Given the description of an element on the screen output the (x, y) to click on. 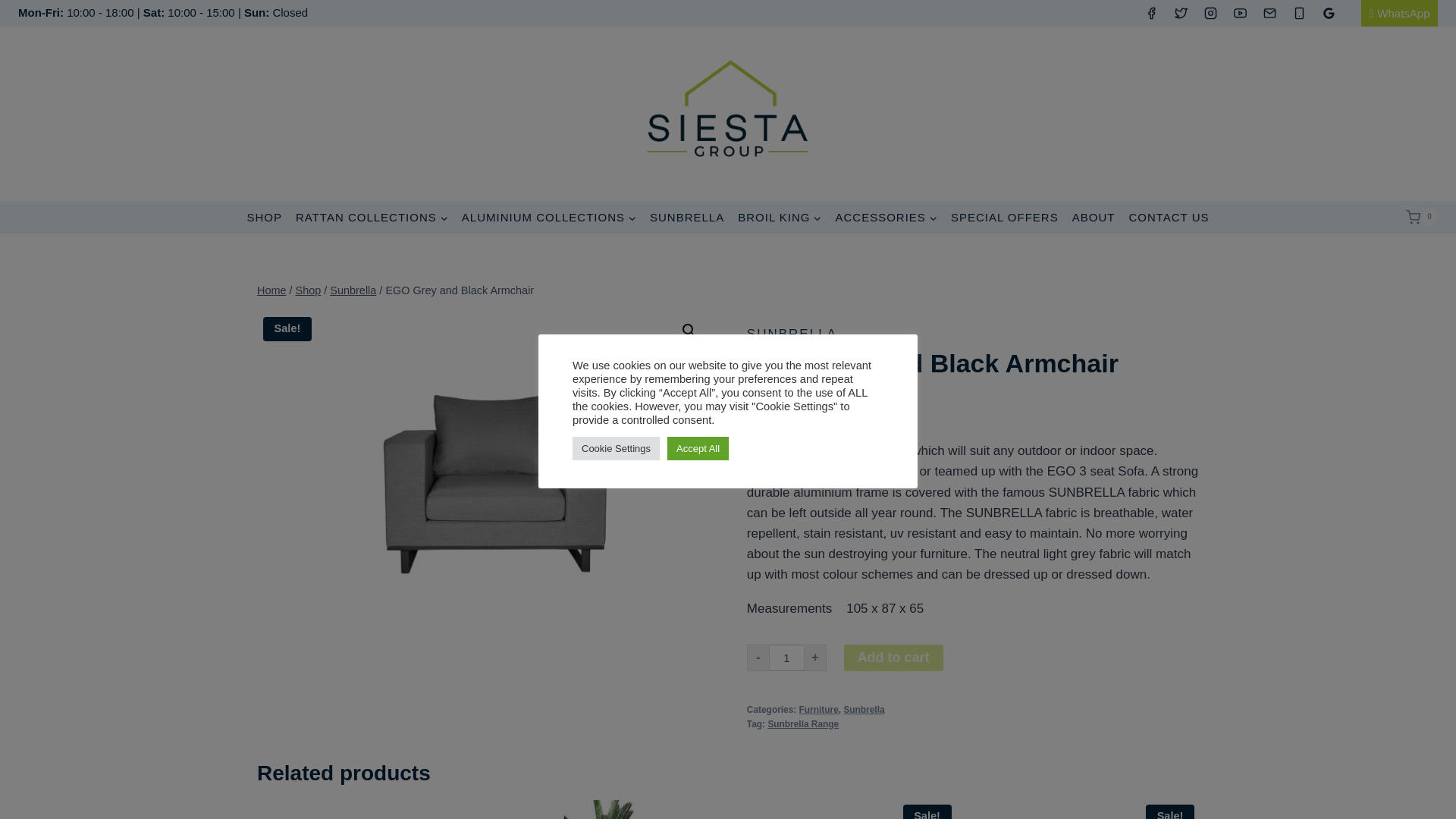
CONTACT US (1168, 217)
SUNBRELLA (686, 217)
SPECIAL OFFERS (1004, 217)
ALUMINIUM COLLECTIONS (548, 217)
1 (786, 657)
SHOP (264, 217)
RATTAN COLLECTIONS (371, 217)
Qty (786, 657)
WhatsApp (1399, 13)
0 (1422, 217)
ACCESSORIES (885, 217)
BROIL KING (779, 217)
ABOUT (1093, 217)
